Given the description of an element on the screen output the (x, y) to click on. 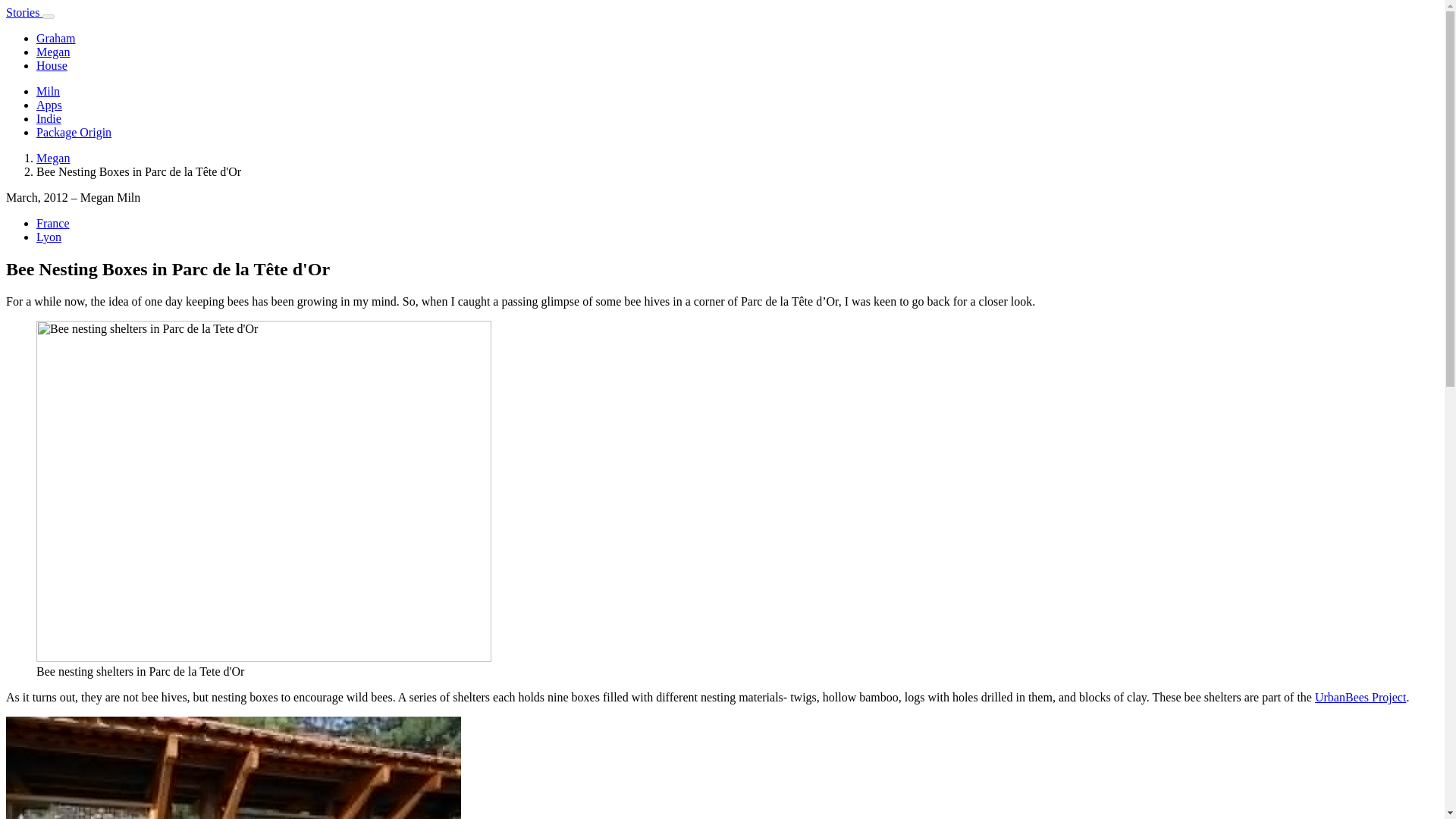
House (51, 65)
Different nesting materials in bee shelters (233, 767)
Stories (23, 11)
Indie (48, 118)
Graham (55, 38)
UrbanBees Project (1360, 697)
Megan (52, 157)
France (52, 223)
Lyon (48, 236)
Miln (47, 91)
UrbanBees Project (1360, 697)
Megan (52, 51)
Package Origin (74, 132)
Apps (49, 104)
